Given the description of an element on the screen output the (x, y) to click on. 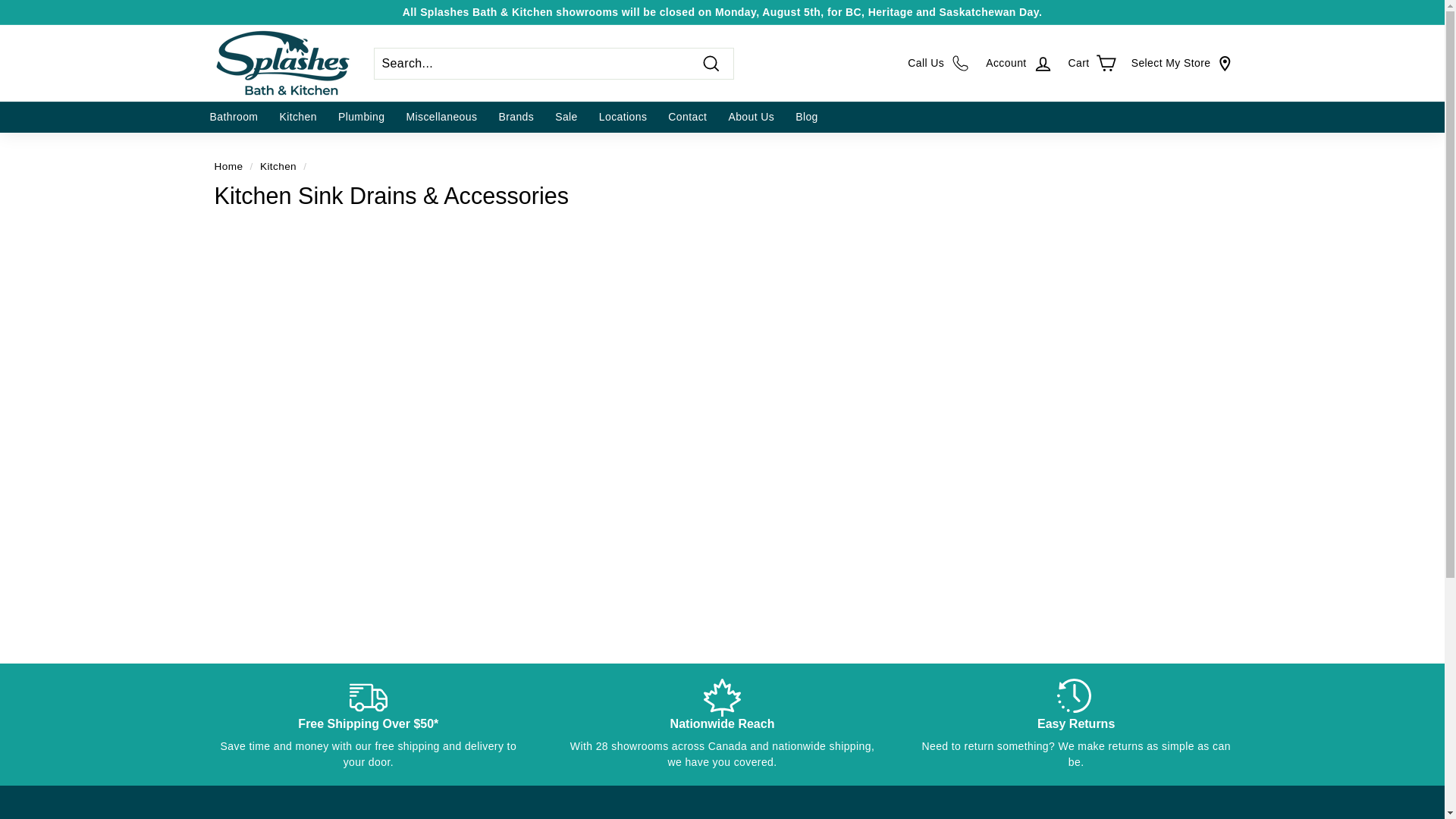
Select My Store (1182, 62)
Account (1018, 63)
Back to the frontpage (228, 165)
Call Us (938, 63)
Bathroom (232, 116)
